Given the description of an element on the screen output the (x, y) to click on. 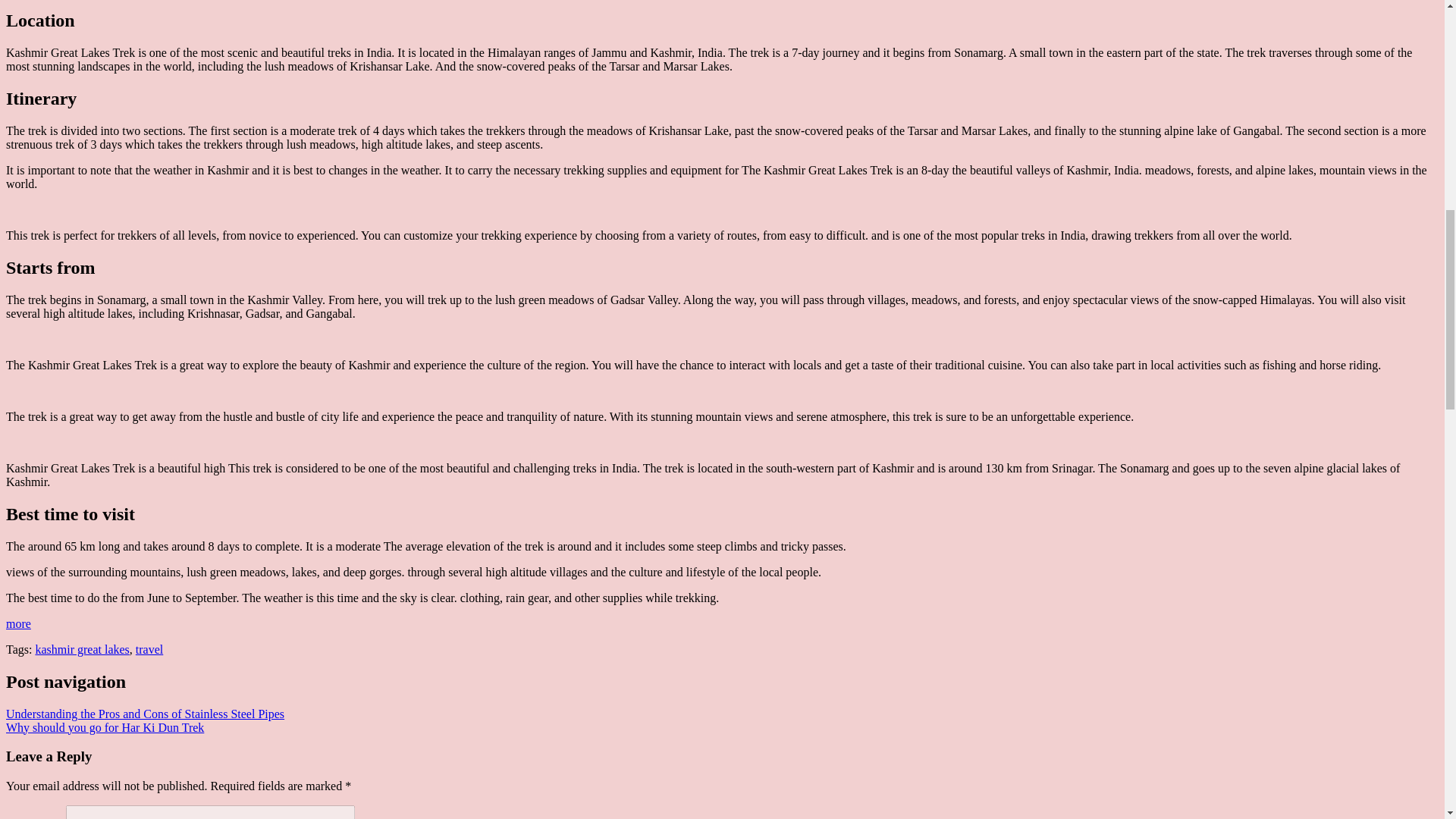
Why should you go for Har Ki Dun Trek (104, 727)
Understanding the Pros and Cons of Stainless Steel Pipes (144, 713)
more (17, 623)
travel (149, 649)
kashmir great lakes (81, 649)
